Given the description of an element on the screen output the (x, y) to click on. 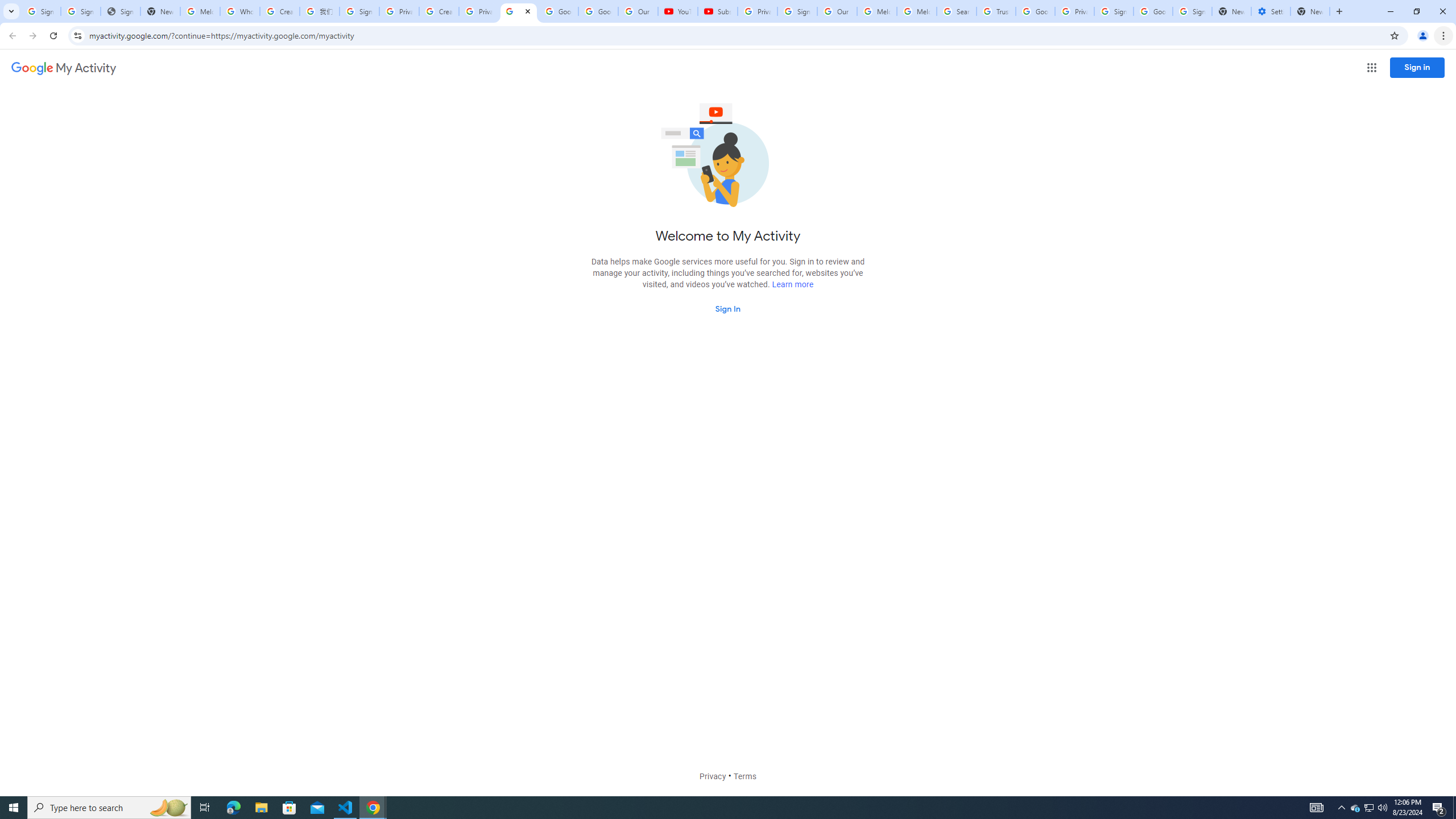
Trusted Information and Content - Google Safety Center (995, 11)
Welcome to My Activity (518, 11)
Sign in - Google Accounts (1192, 11)
Google Ads - Sign in (1034, 11)
Who is my administrator? - Google Account Help (239, 11)
Settings - Addresses and more (1270, 11)
